Given the description of an element on the screen output the (x, y) to click on. 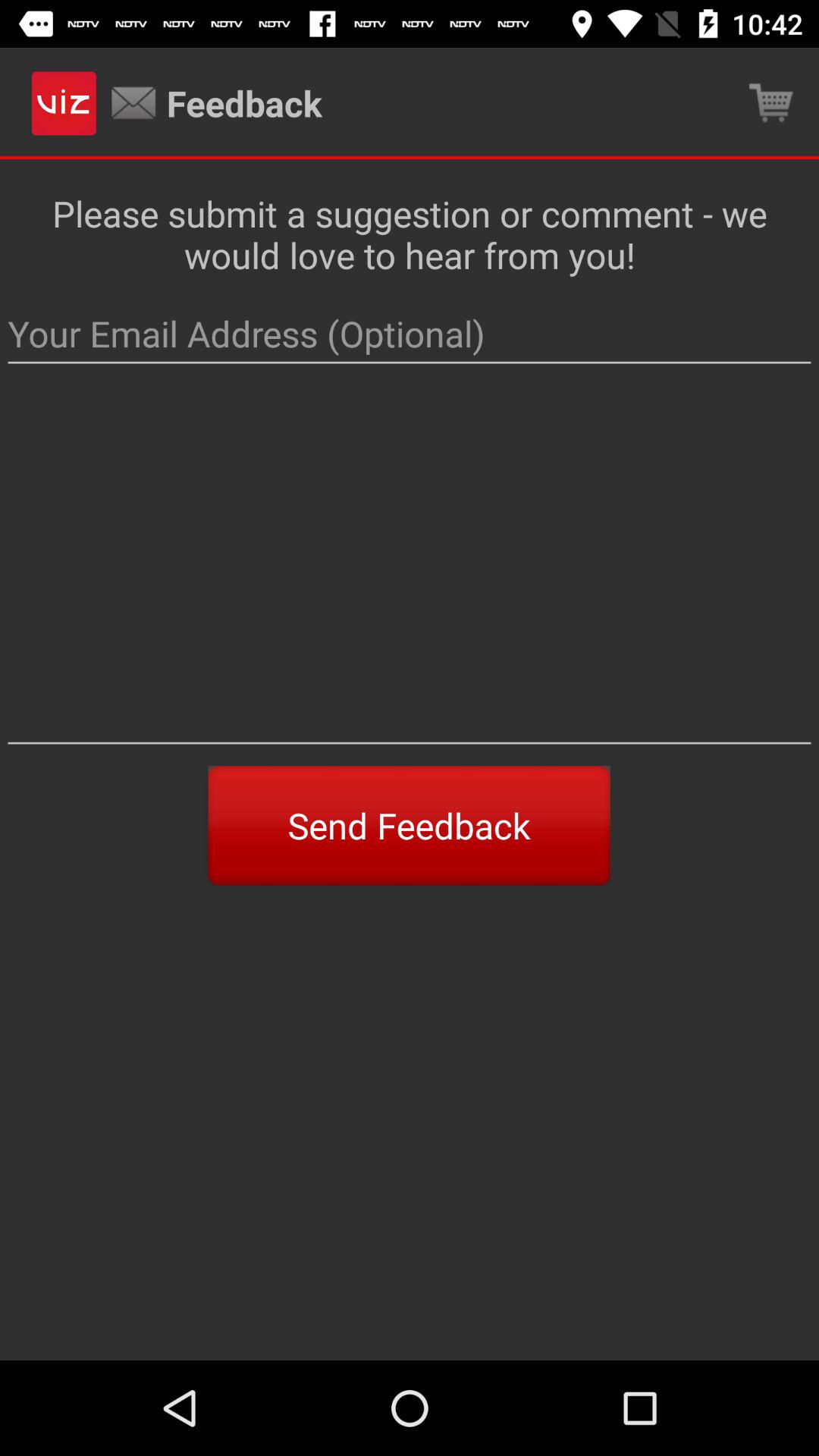
tap item at the top right corner (771, 103)
